Given the description of an element on the screen output the (x, y) to click on. 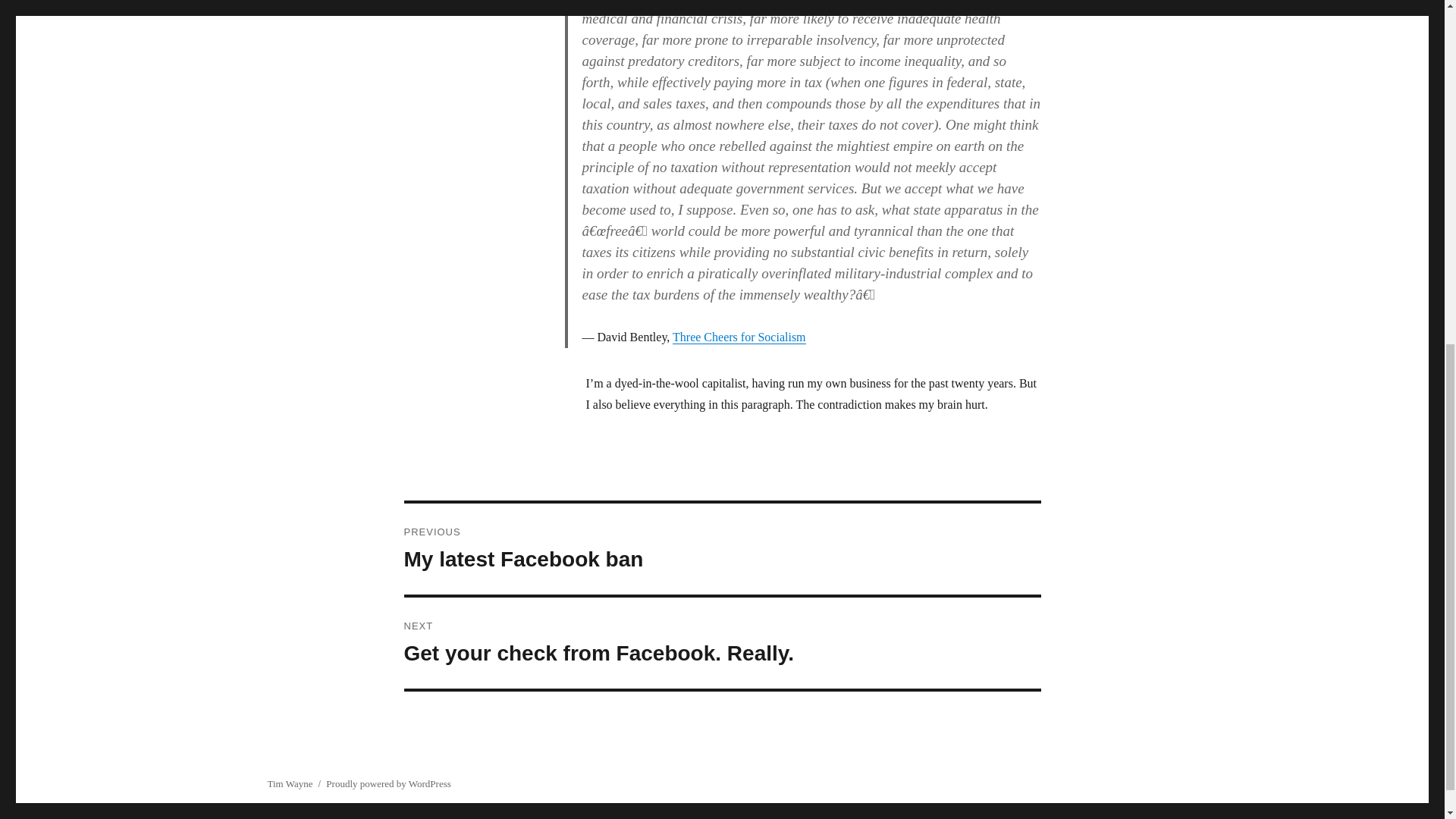
Proudly powered by WordPress (387, 783)
Tim Wayne (289, 783)
Three Cheers for Socialism (722, 642)
